Given the description of an element on the screen output the (x, y) to click on. 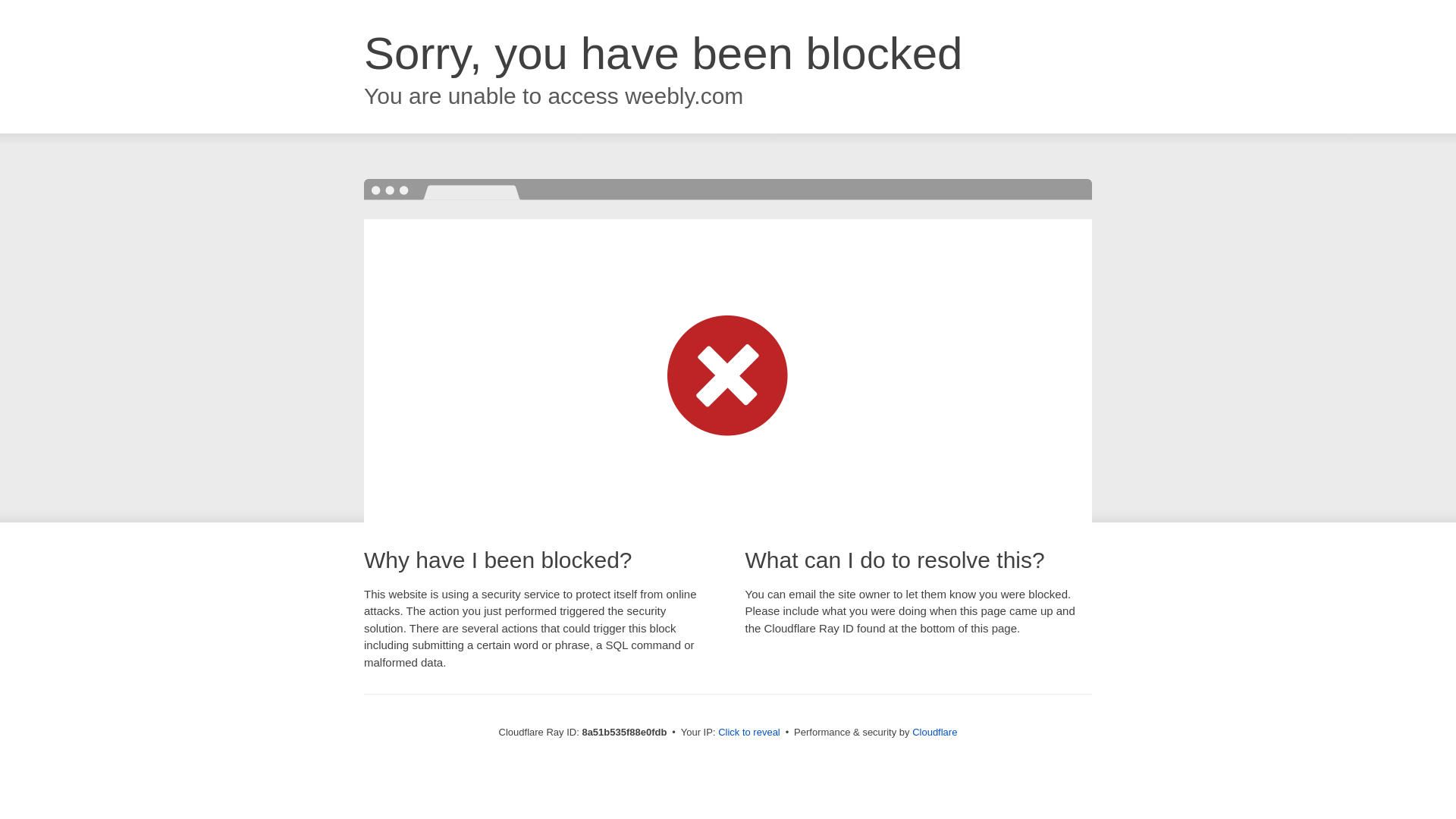
Cloudflare (934, 731)
Click to reveal (748, 732)
